Given the description of an element on the screen output the (x, y) to click on. 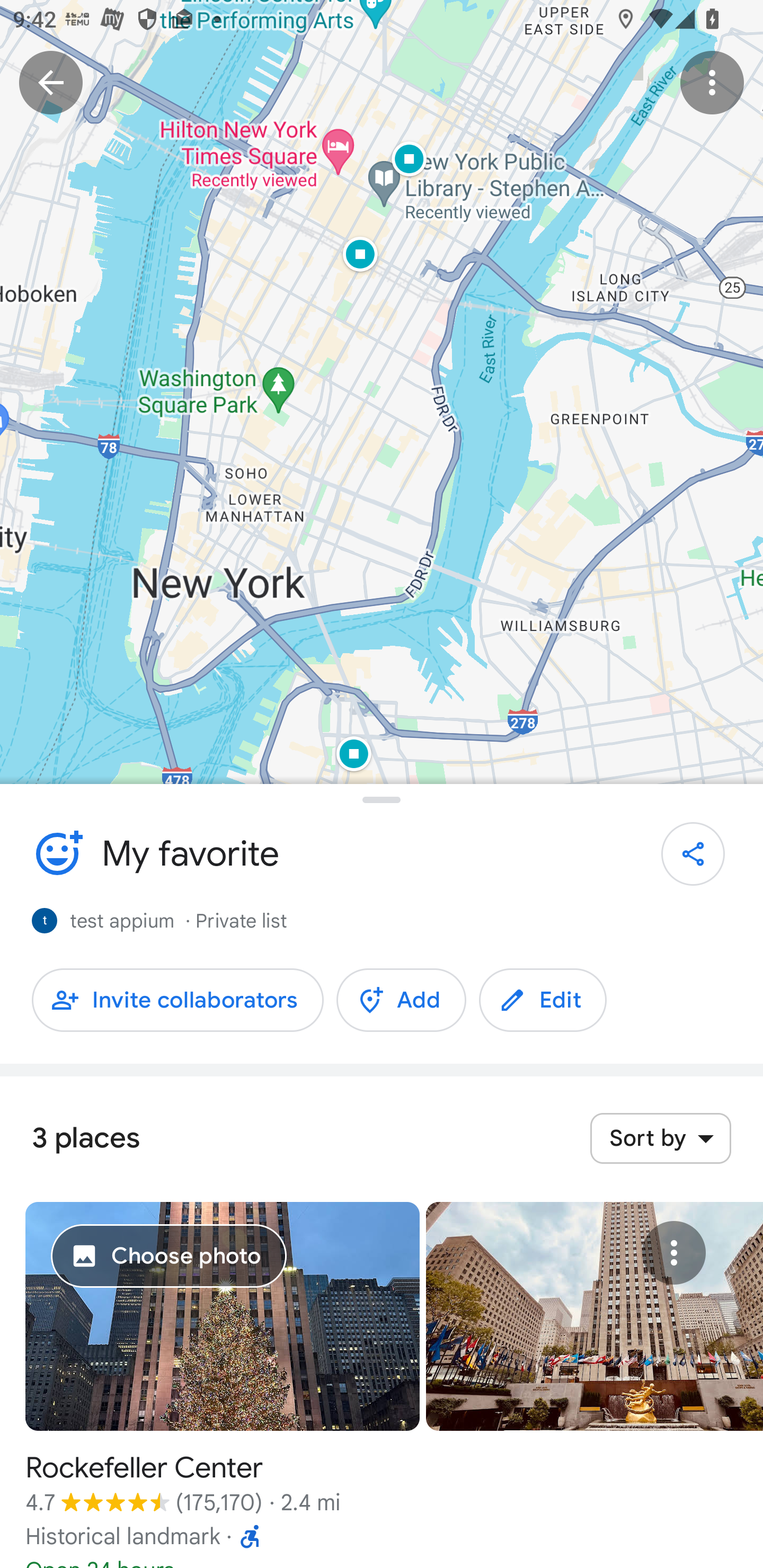
Navigate up (50, 81)
Overflow menu (711, 81)
Share (692, 853)
Edit list (57, 853)
Add Add Add (401, 1000)
Edit Edit Edit (542, 1000)
Sort by Sort by Sort by (660, 1138)
Photo (222, 1316)
Photo (594, 1316)
Overflow menu for Rockefeller Center (673, 1252)
